Given the description of an element on the screen output the (x, y) to click on. 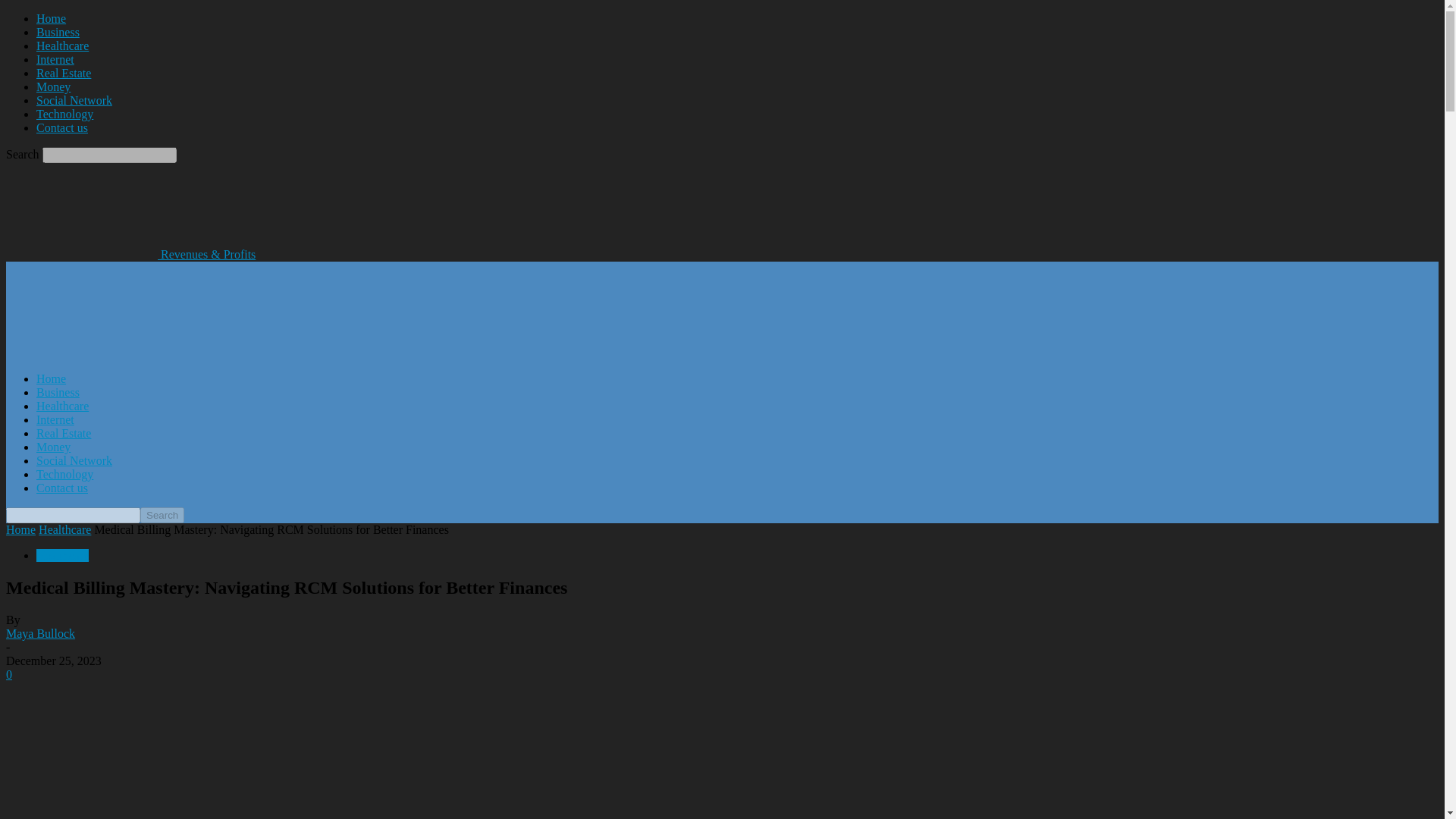
Real Estate (63, 72)
View all posts in Healthcare (64, 529)
Internet (55, 419)
Social Network (74, 100)
Business (58, 391)
Home (50, 18)
Search (161, 514)
Money (52, 86)
Money (52, 446)
Technology (64, 473)
